Given the description of an element on the screen output the (x, y) to click on. 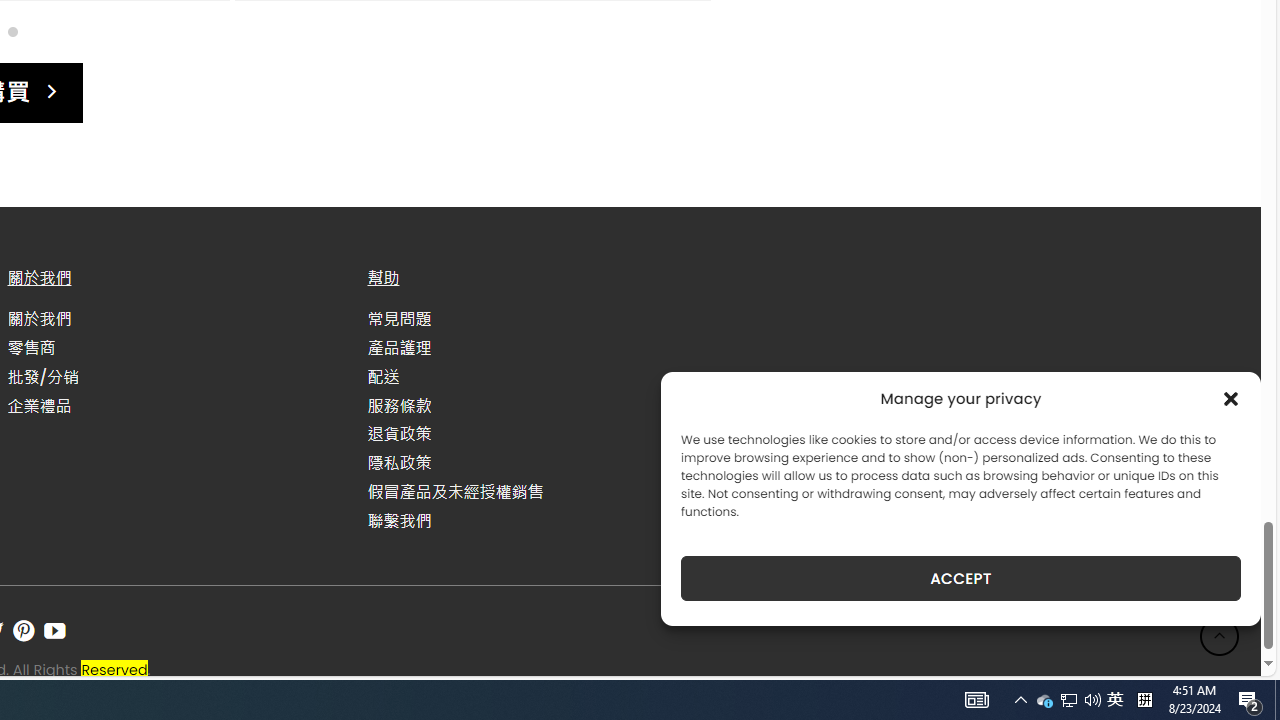
Go to top (1220, 636)
ACCEPT (960, 578)
Page dot 3 (11, 30)
